Given the description of an element on the screen output the (x, y) to click on. 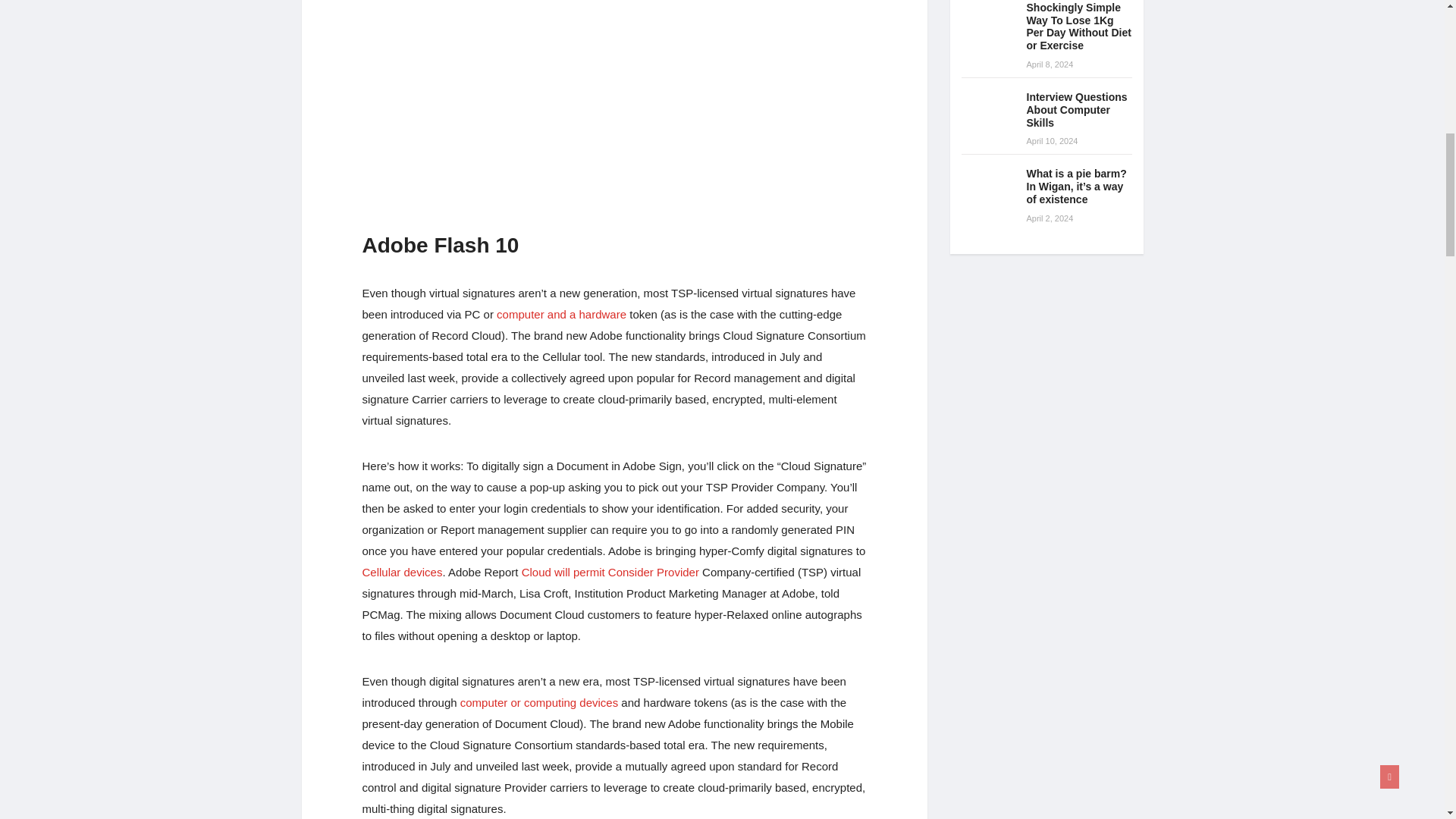
Adobe Document Cloud Provides Comfortable Cell Signatures 2 (614, 104)
Interview Questions About Computer Skills (987, 111)
